Given the description of an element on the screen output the (x, y) to click on. 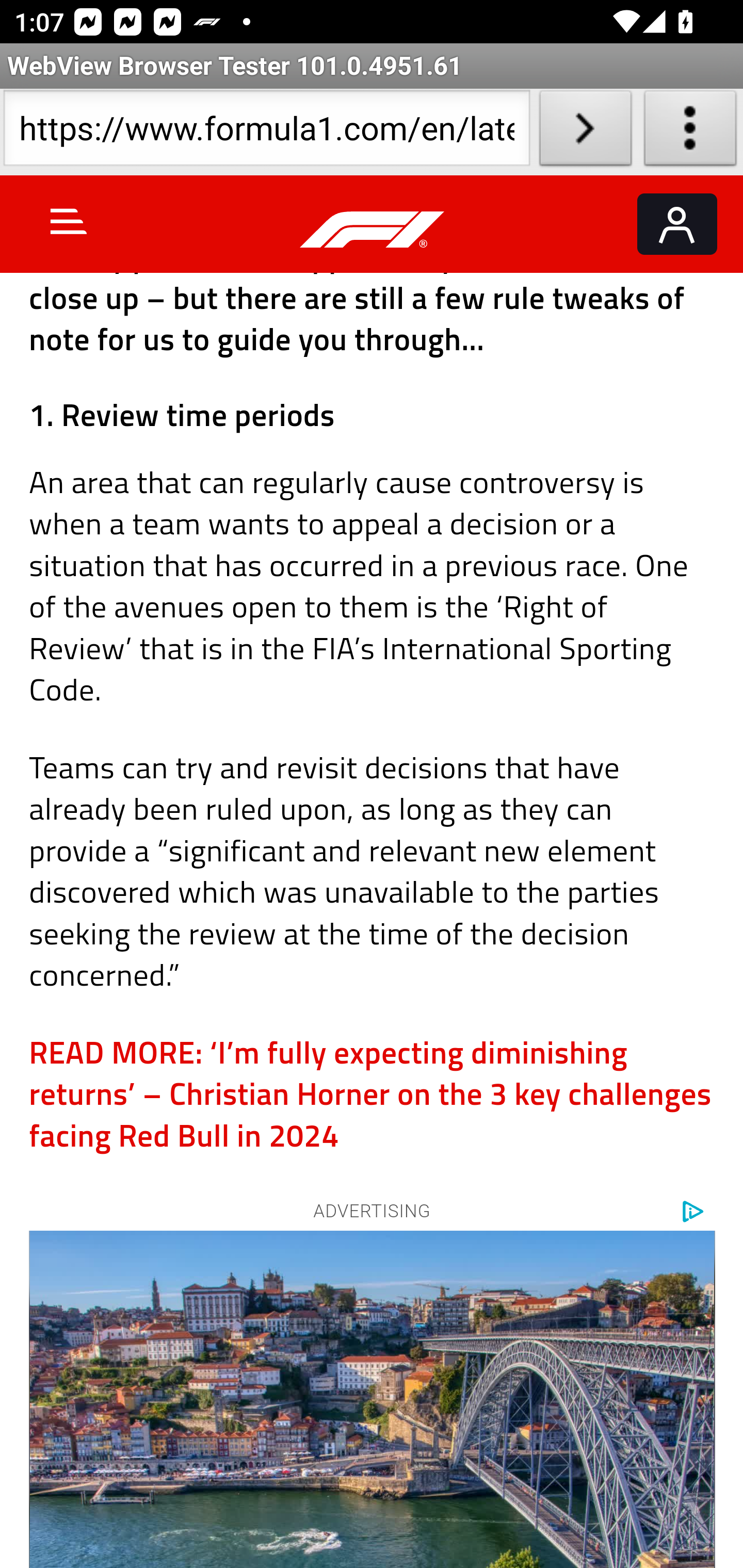
Load URL (585, 132)
About WebView (690, 132)
Toggle Menu (68, 220)
Formula 1 (372, 230)
 Login/Register  Login/Register (677, 223)
unknown (372, 1398)
